Given the description of an element on the screen output the (x, y) to click on. 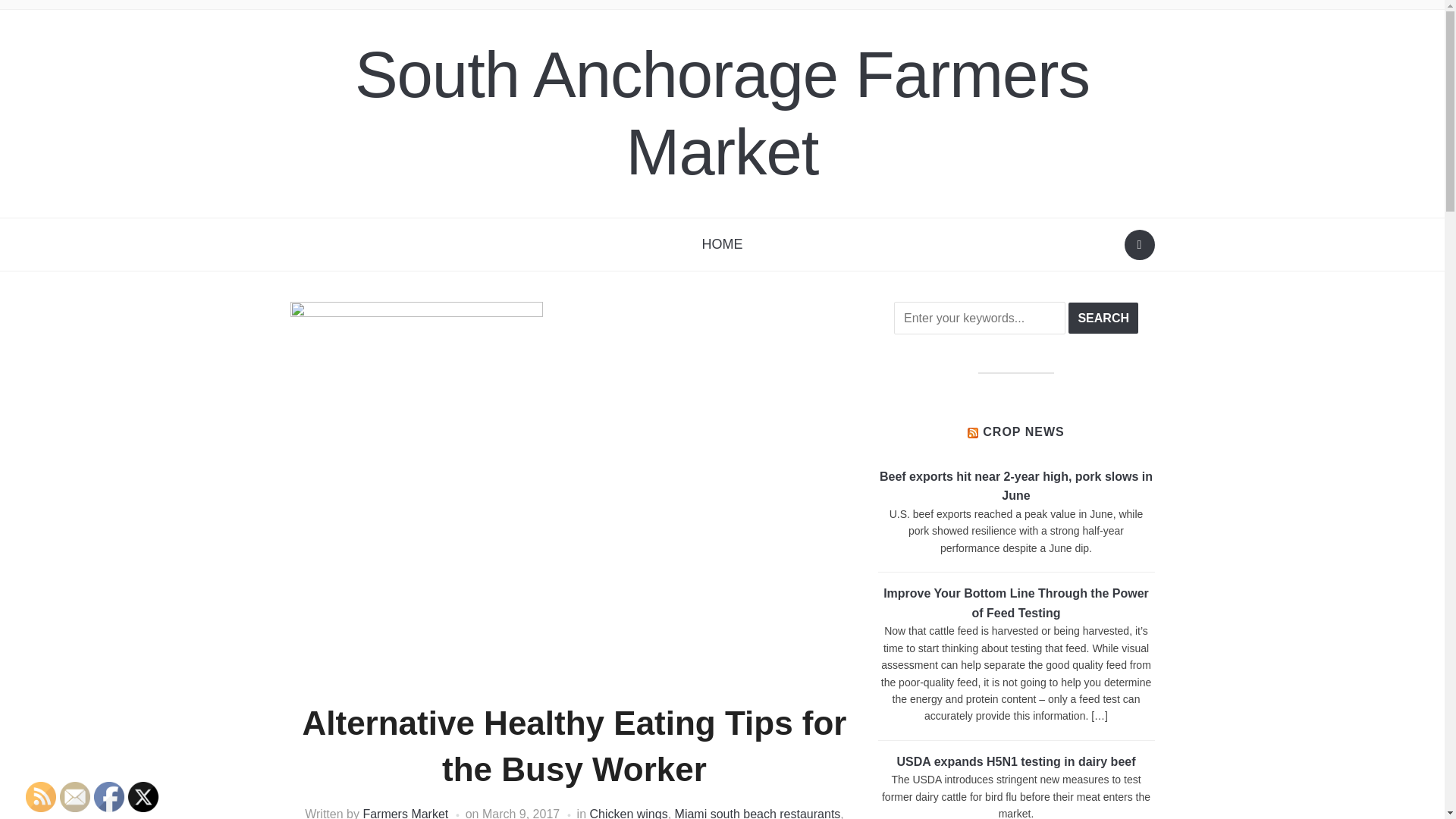
South Anchorage Farmers Market (722, 113)
Chicken wings (628, 813)
Posts by Farmers Market (405, 813)
HOME (722, 244)
Search (1139, 245)
Search (1103, 318)
Search (1103, 318)
Farmers Market (405, 813)
Improve Your Bottom Line Through the Power of Feed Testing (1015, 603)
USDA expands H5N1 testing in dairy beef (1015, 761)
